Given the description of an element on the screen output the (x, y) to click on. 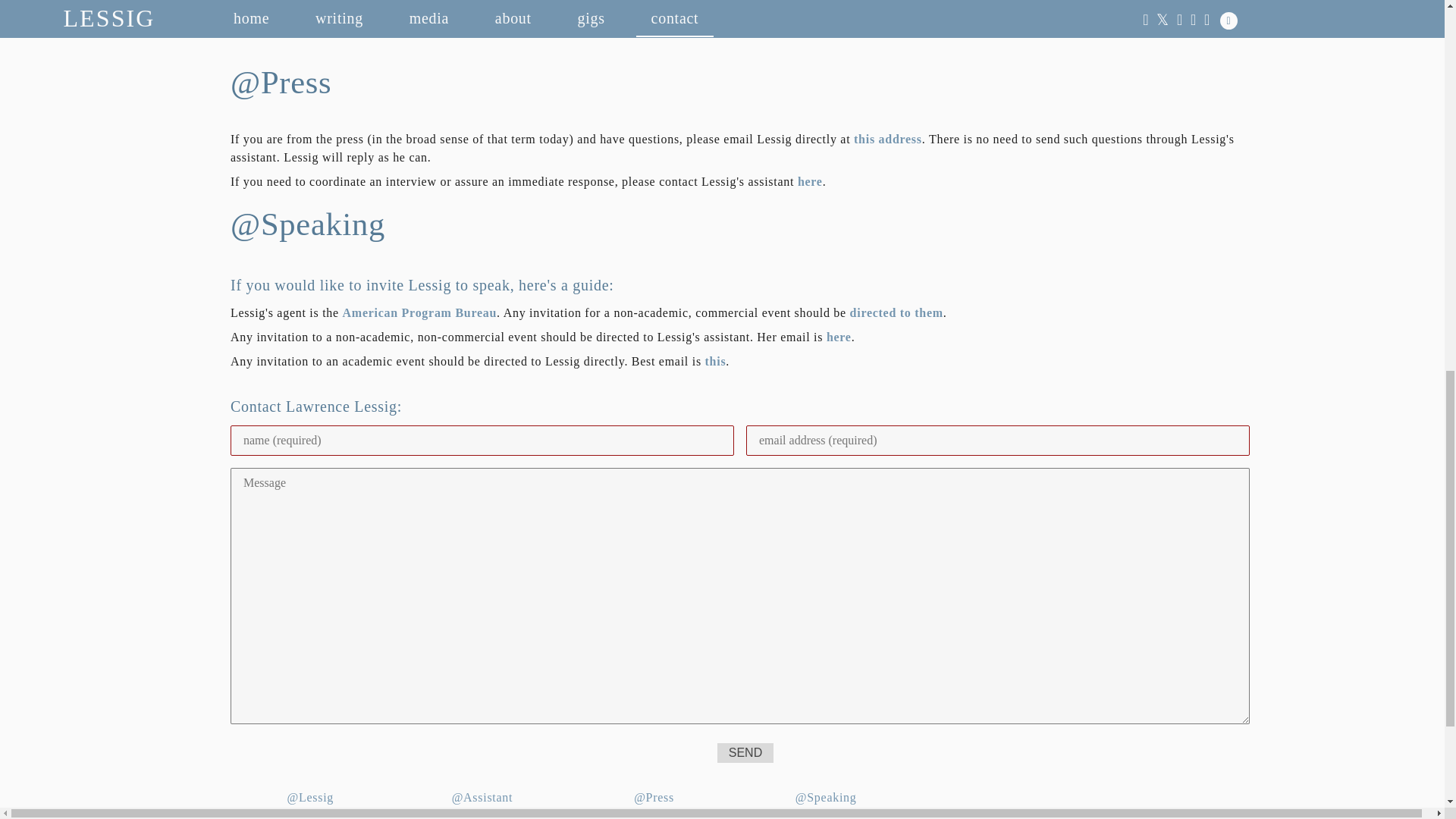
email (407, 2)
this address (887, 138)
